Given the description of an element on the screen output the (x, y) to click on. 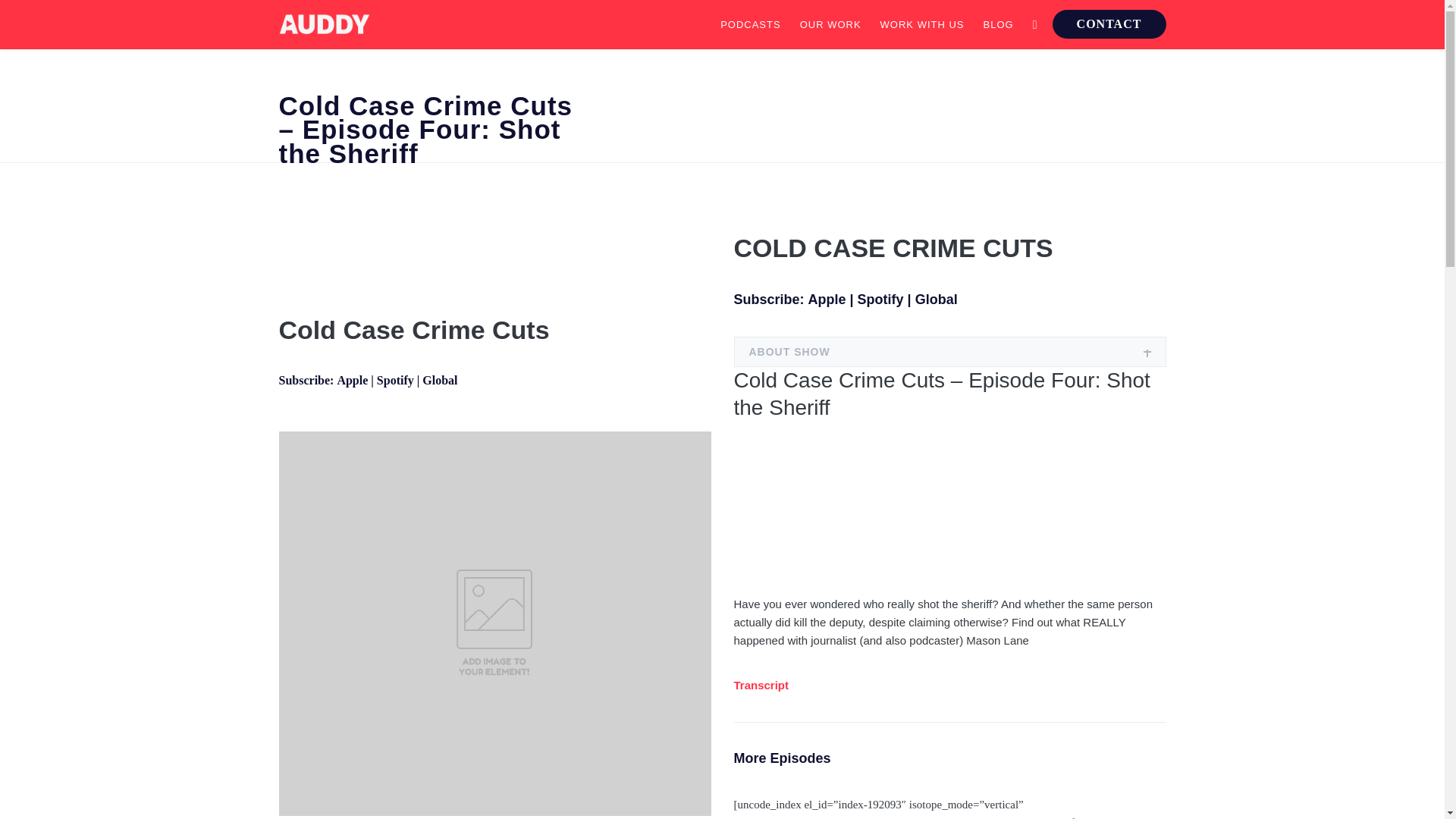
Apple (826, 299)
Global (439, 379)
Apple (352, 379)
Spotify (880, 299)
CONTACT (1109, 24)
PODCASTS (750, 24)
Auddy (324, 24)
Transcript (761, 684)
Global (936, 299)
Spotify (395, 379)
